Given the description of an element on the screen output the (x, y) to click on. 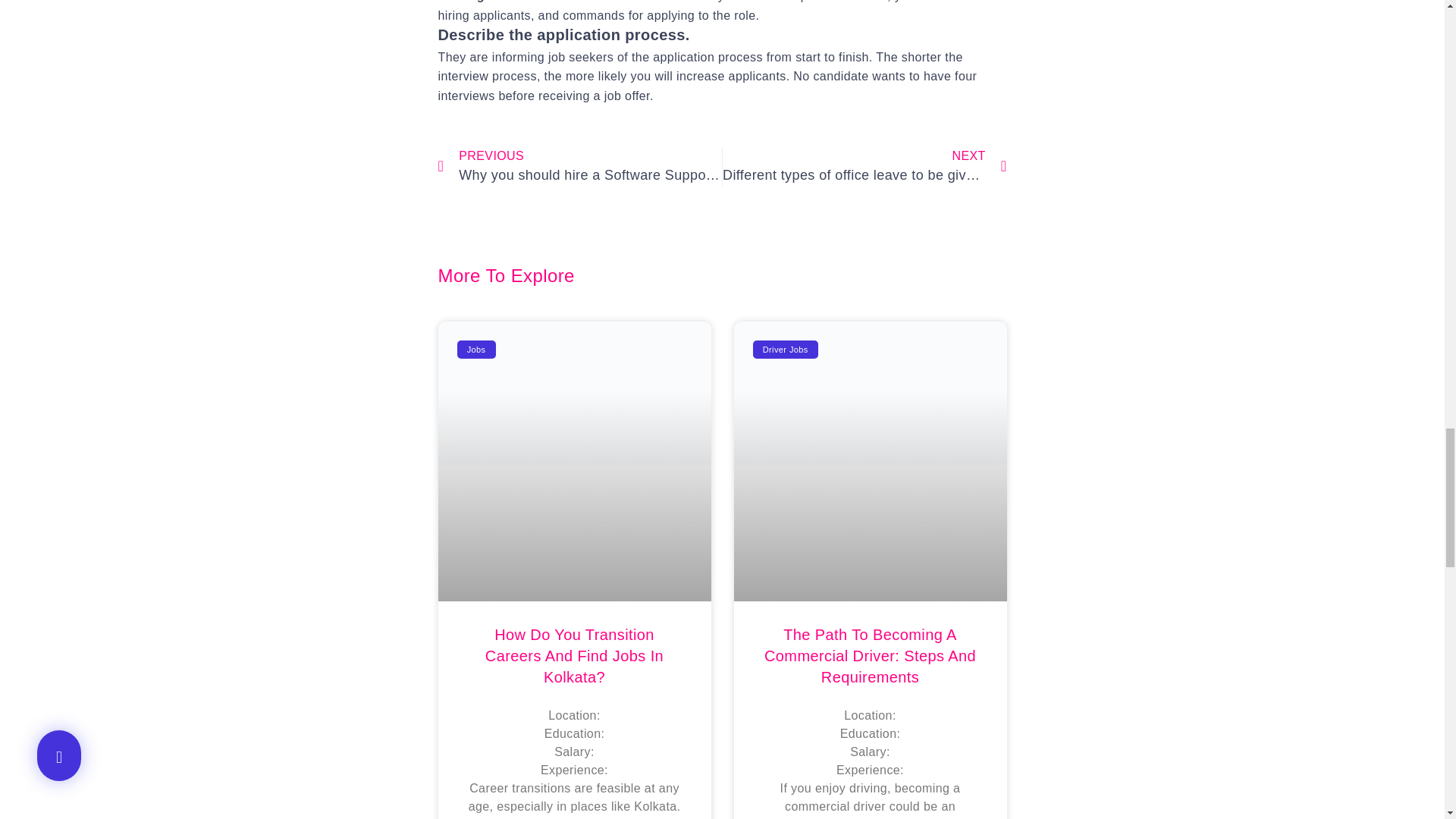
How Do You Transition Careers And Find Jobs In Kolkata? (573, 655)
